Given the description of an element on the screen output the (x, y) to click on. 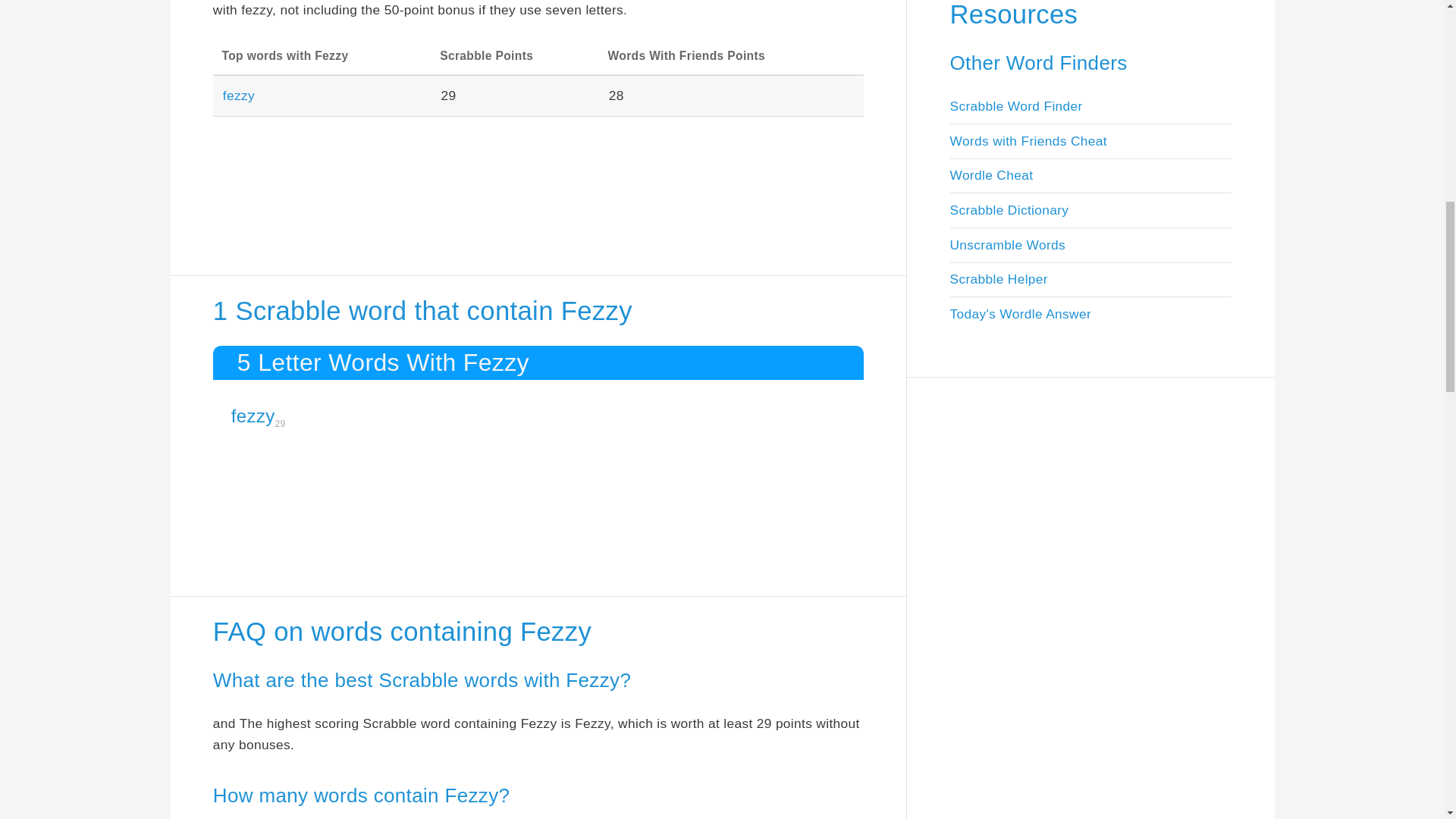
fezzy (253, 415)
fezzy (238, 95)
Scrabble Word Finder (1015, 105)
